Given the description of an element on the screen output the (x, y) to click on. 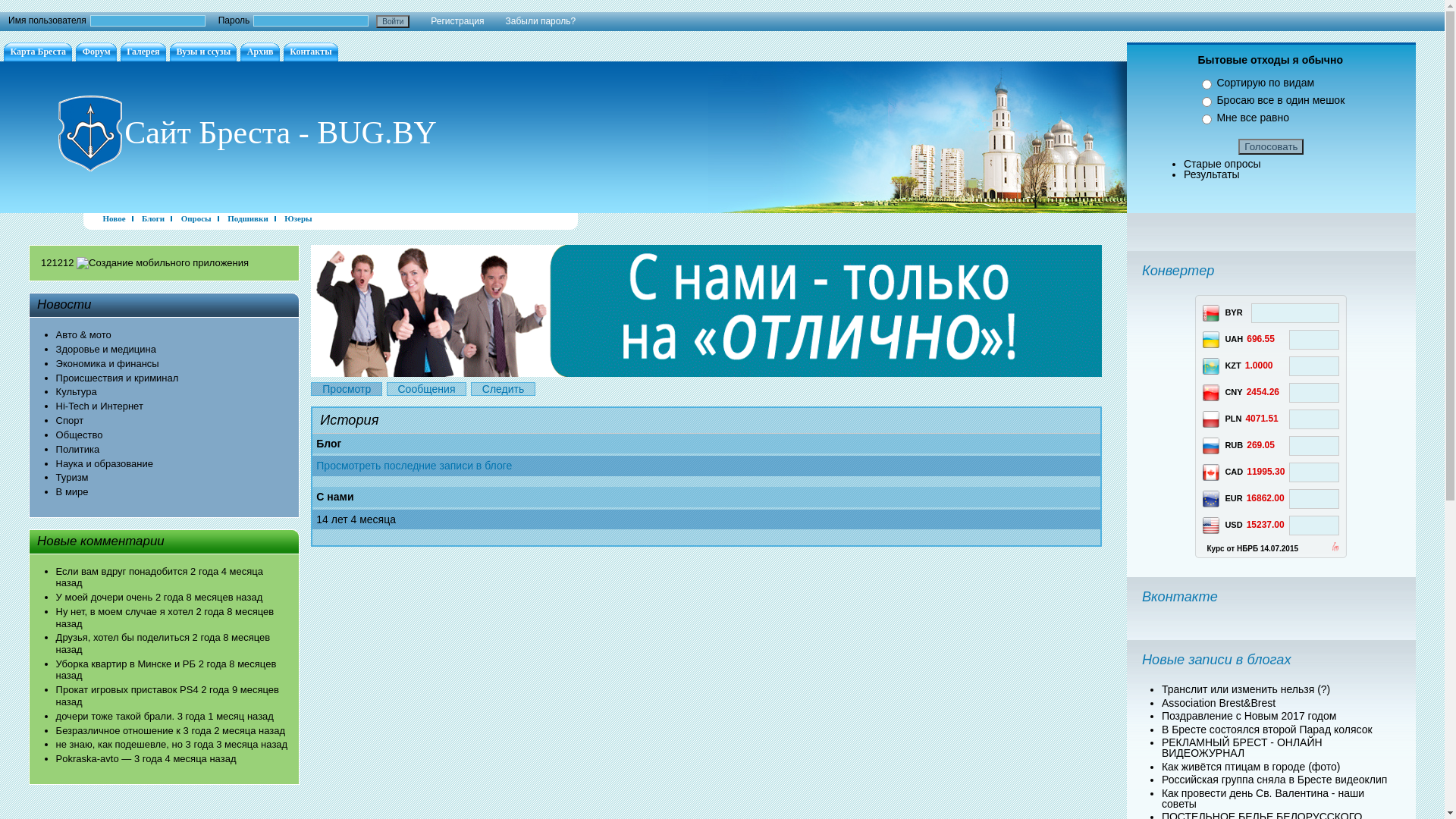
Association Brest&Brest Element type: text (1218, 702)
